Given the description of an element on the screen output the (x, y) to click on. 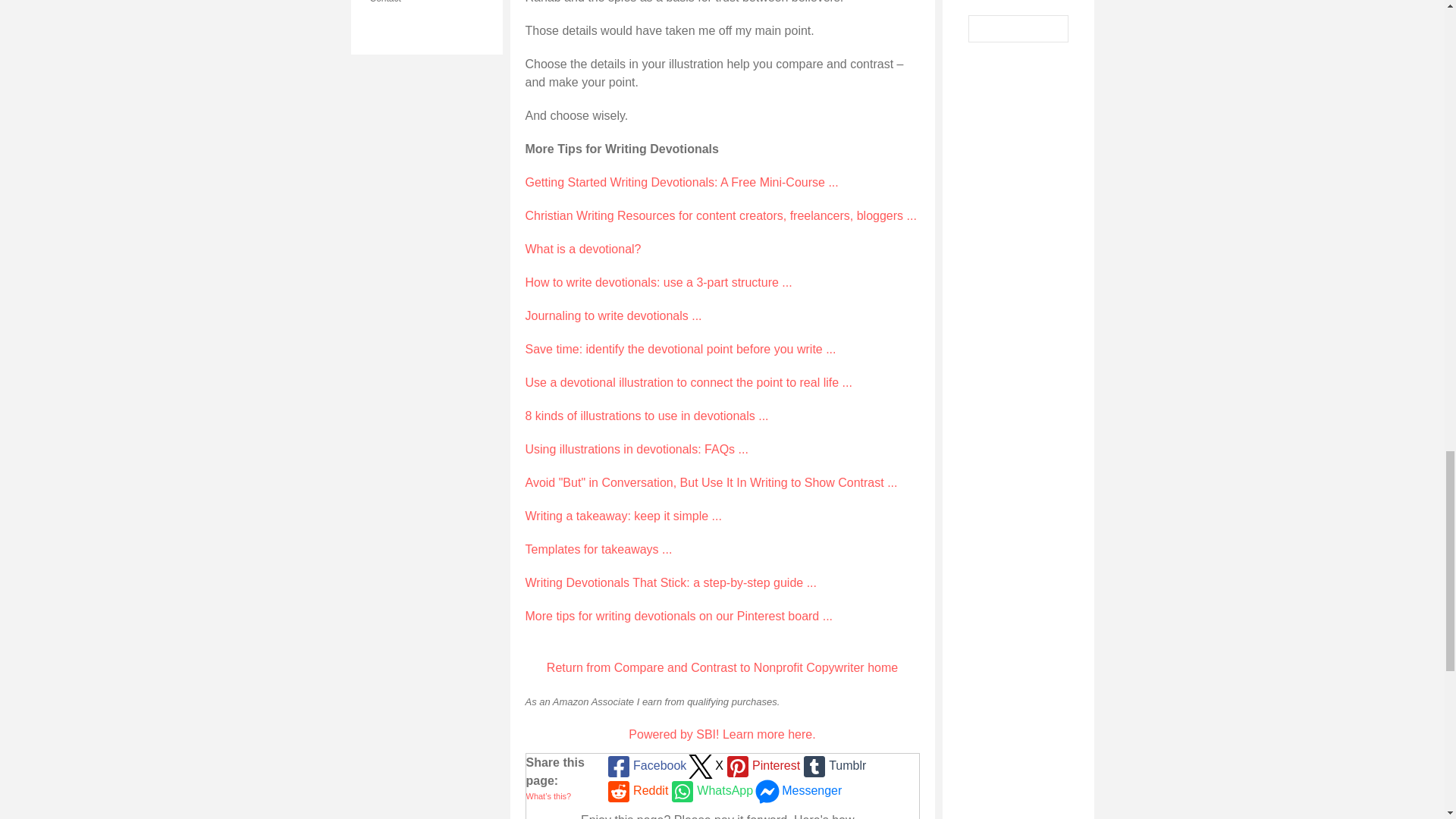
What is a devotional? (582, 248)
More tips for writing devotionals on our Pinterest board ... (678, 615)
Getting Started Writing Devotionals: A Free Mini-Course ... (681, 182)
Facebook (644, 765)
Writing Devotionals That Stick: a step-by-step guide ... (669, 582)
Templates for takeaways ... (597, 549)
WhatsApp (710, 790)
